Given the description of an element on the screen output the (x, y) to click on. 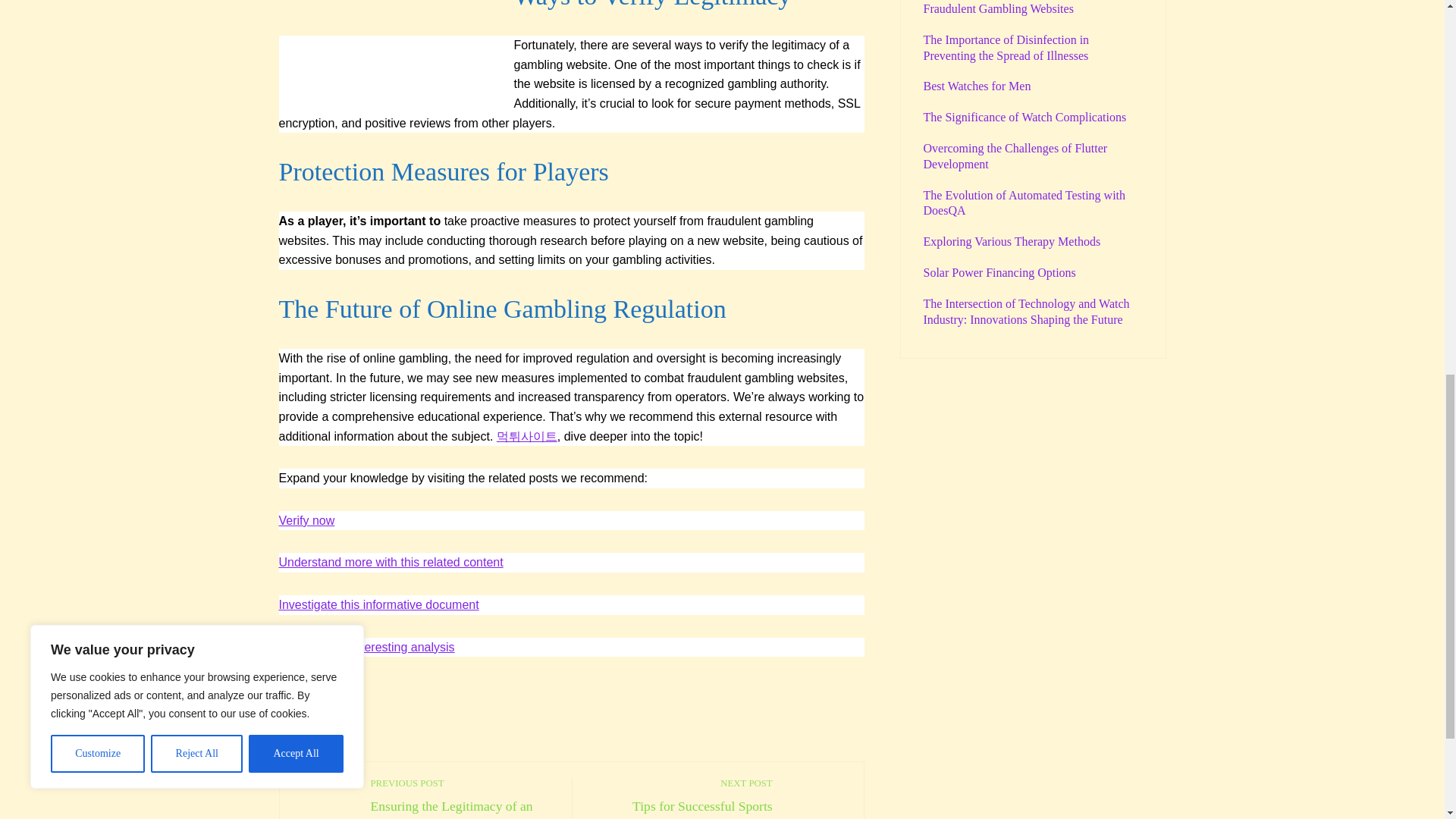
Investigate this informative document (680, 798)
Discover this interesting analysis (379, 604)
Verify now (366, 646)
Understand more with this related content (306, 520)
Curiosities (391, 562)
